Given the description of an element on the screen output the (x, y) to click on. 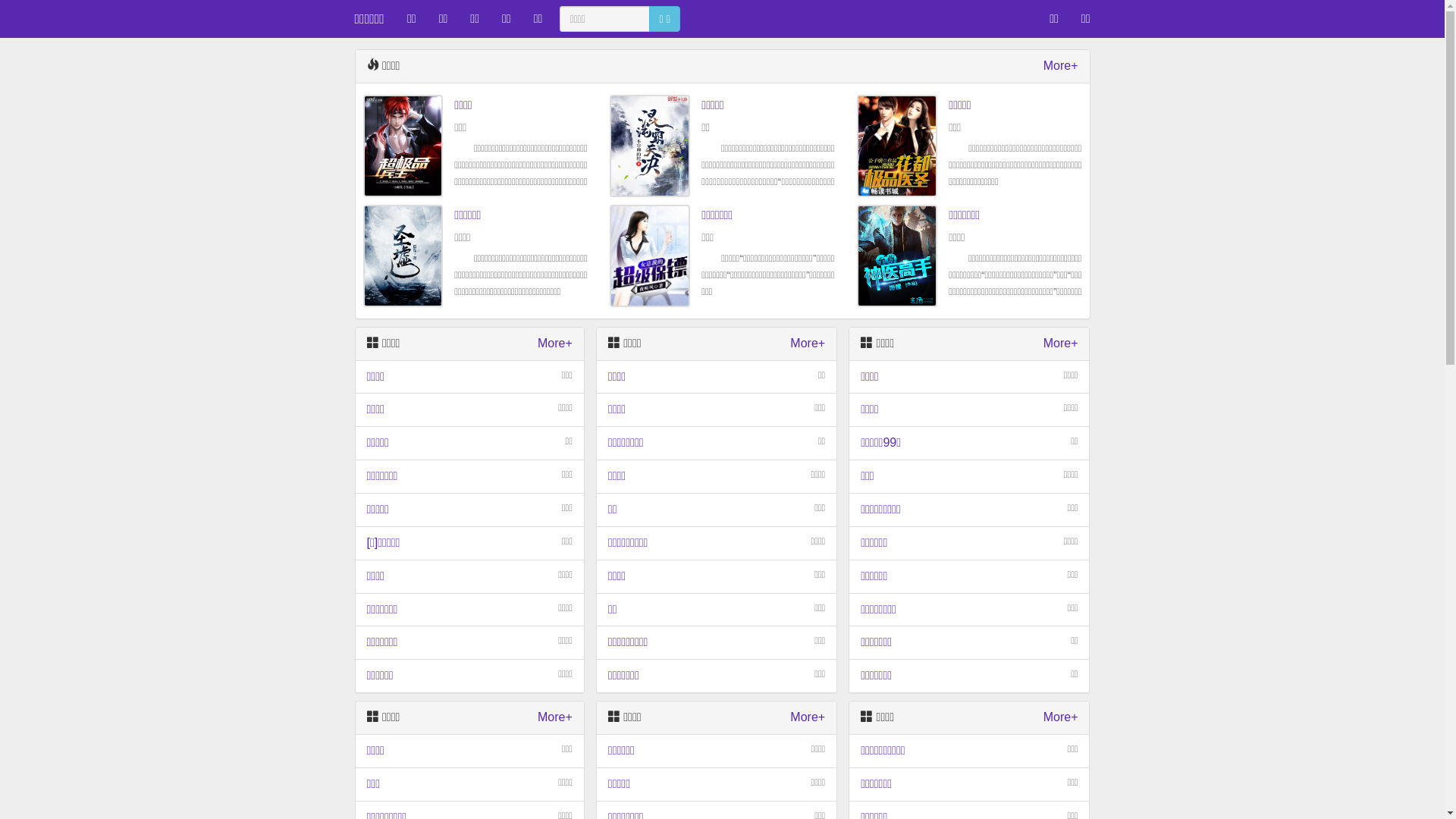
More+ Element type: text (554, 717)
More+ Element type: text (1060, 717)
More+ Element type: text (1060, 66)
More+ Element type: text (807, 717)
More+ Element type: text (1060, 343)
More+ Element type: text (554, 343)
More+ Element type: text (807, 343)
